Given the description of an element on the screen output the (x, y) to click on. 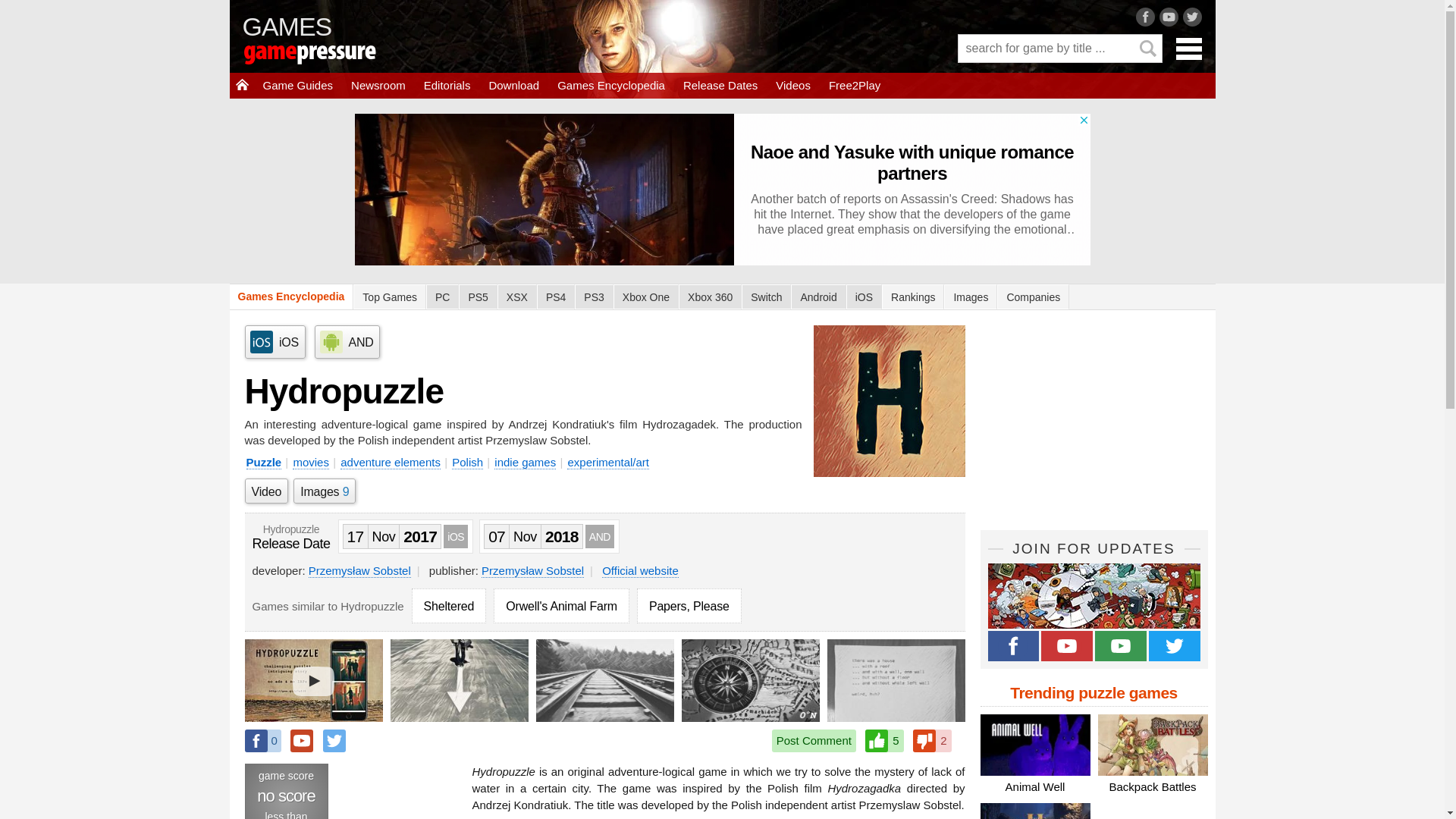
PS4 (556, 296)
Game Guides (297, 85)
Hydropuzzle Release Dates (290, 537)
Xbox One (645, 296)
Games Encyclopedia (611, 85)
Editorials (447, 85)
Rankings (912, 296)
Companies (1032, 296)
Android (817, 296)
Puzzle (263, 462)
Gamepressure.com Twitter (1173, 645)
gamepressure.com (331, 55)
Images (970, 296)
3rd party ad content (1093, 420)
AND (346, 341)
